Given the description of an element on the screen output the (x, y) to click on. 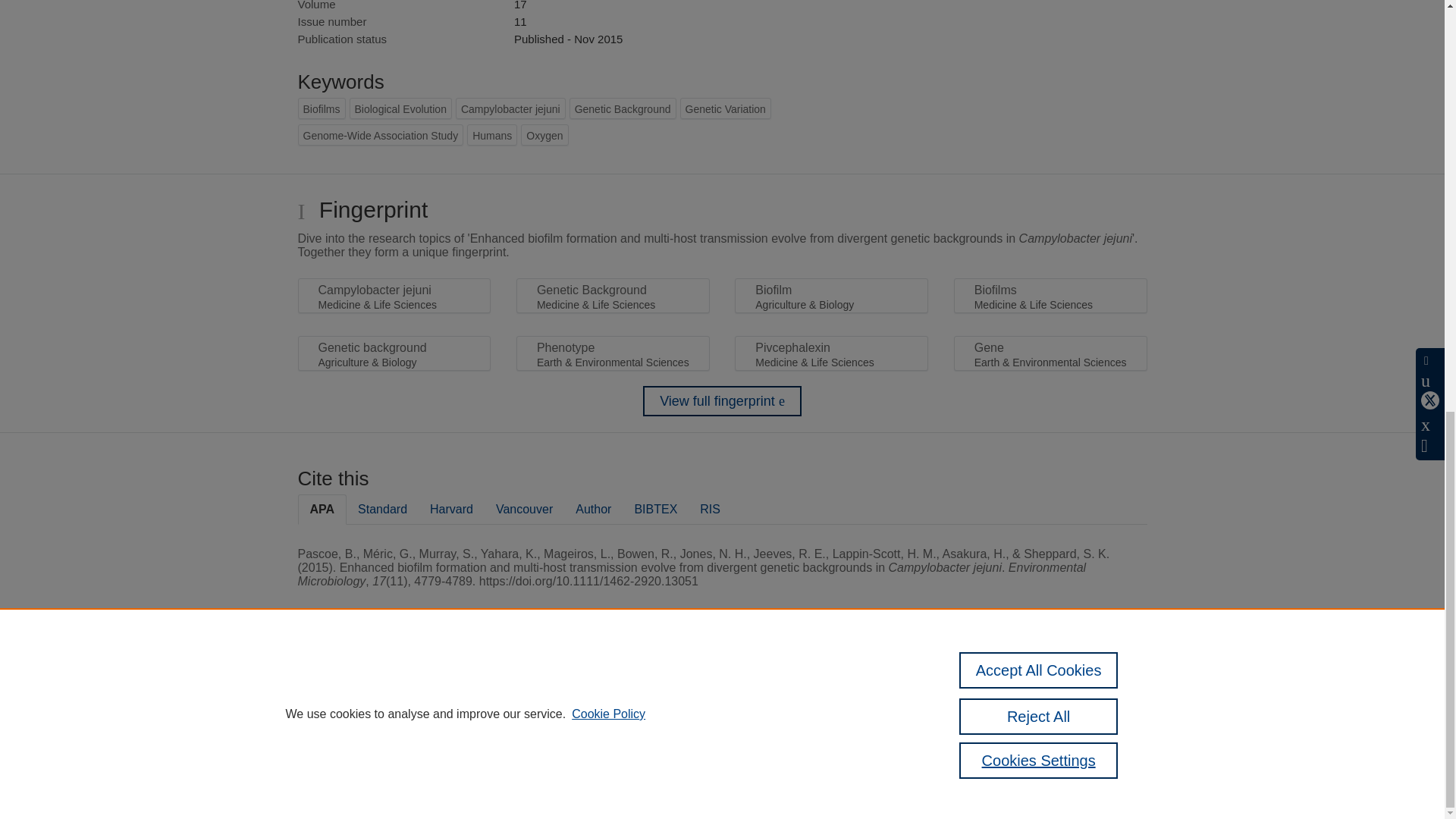
View full fingerprint (722, 400)
